Given the description of an element on the screen output the (x, y) to click on. 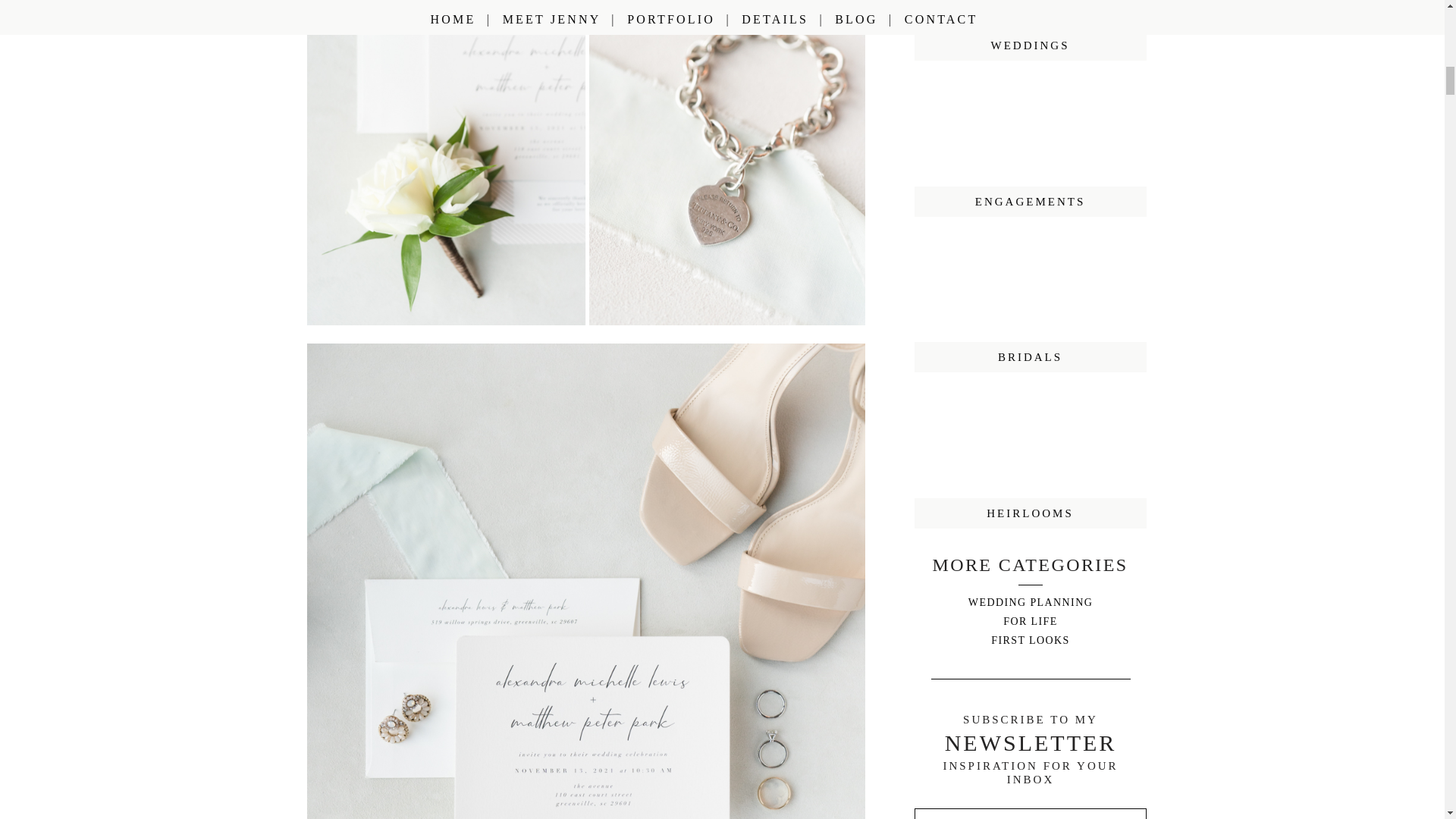
ENGAGEMENTS (1030, 201)
HEIRLOOMS (1030, 512)
BRIDALS (1030, 357)
FIRST LOOKS (1029, 639)
WEDDING PLANNING (1029, 601)
FOR LIFE (1029, 620)
WEDDINGS (1030, 45)
